Given the description of an element on the screen output the (x, y) to click on. 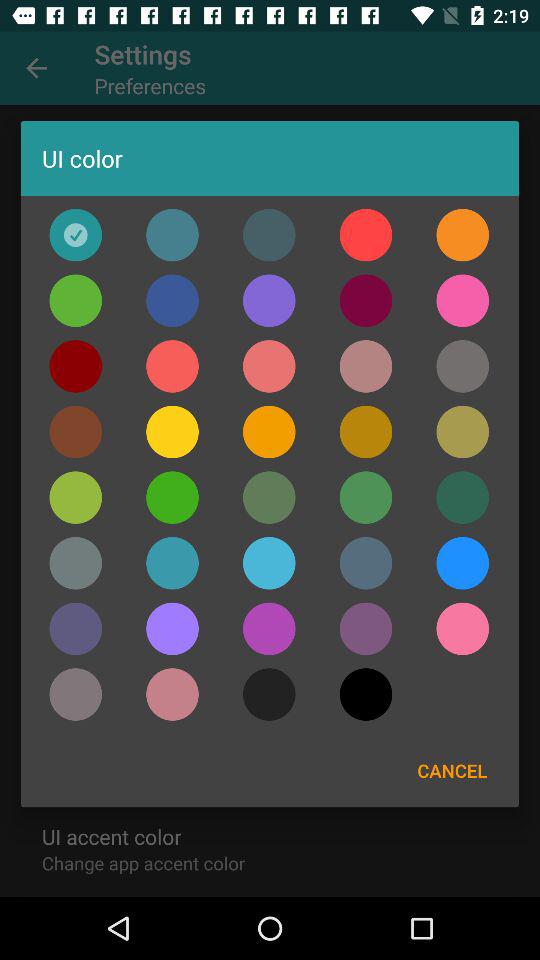
choose green color (172, 497)
